Given the description of an element on the screen output the (x, y) to click on. 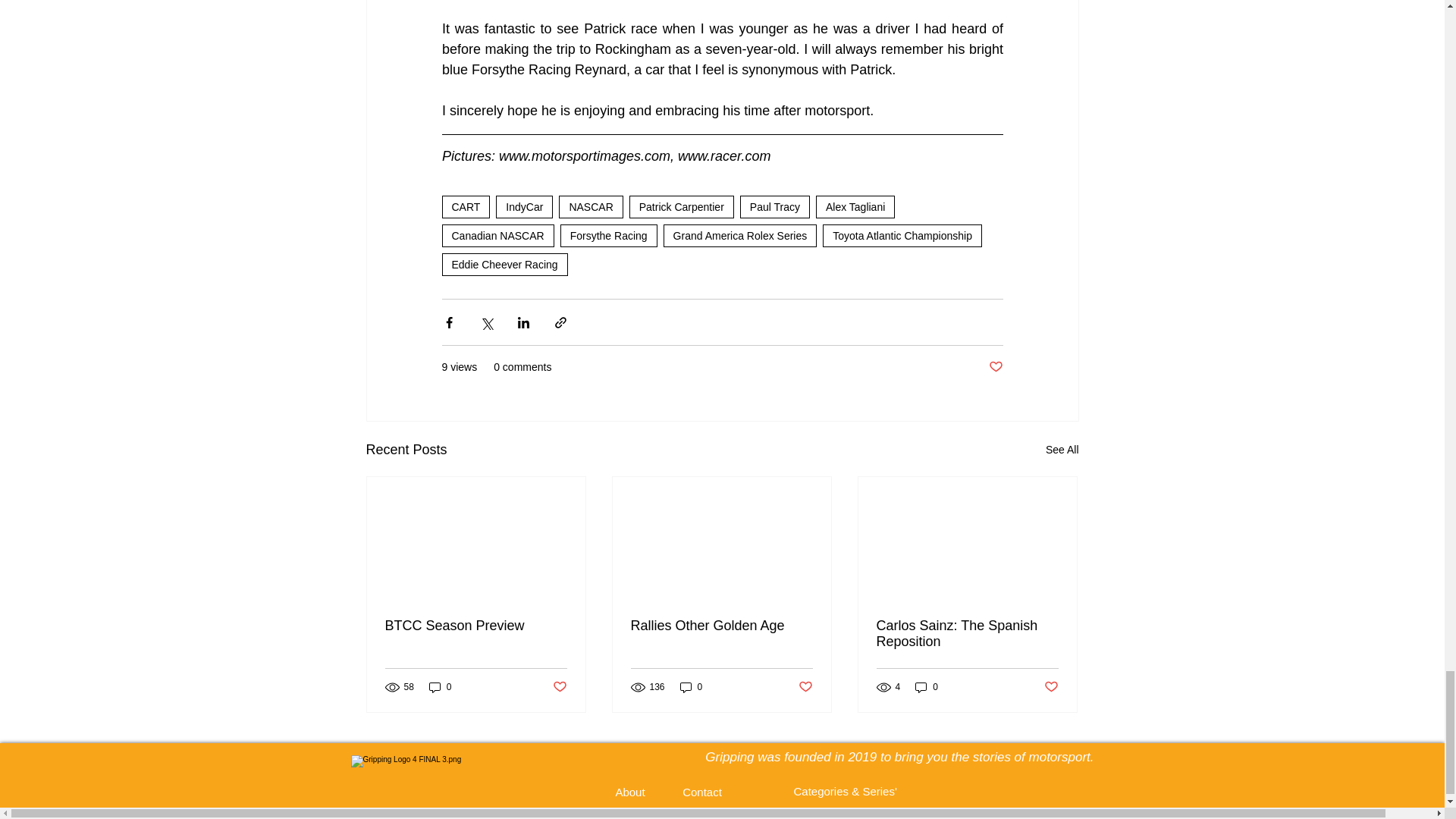
Gripping Logo 4 FINAL 2.png (466, 779)
NASCAR (591, 206)
Grand America Rolex Series (739, 235)
BTCC Season Preview (476, 625)
Alex Tagliani (855, 206)
Post not marked as liked (995, 367)
Post not marked as liked (558, 687)
CART (465, 206)
Canadian NASCAR (497, 235)
Patrick Carpentier (680, 206)
Eddie Cheever Racing (504, 264)
Rallies Other Golden Age (721, 625)
See All (1061, 449)
IndyCar (524, 206)
0 (691, 687)
